Given the description of an element on the screen output the (x, y) to click on. 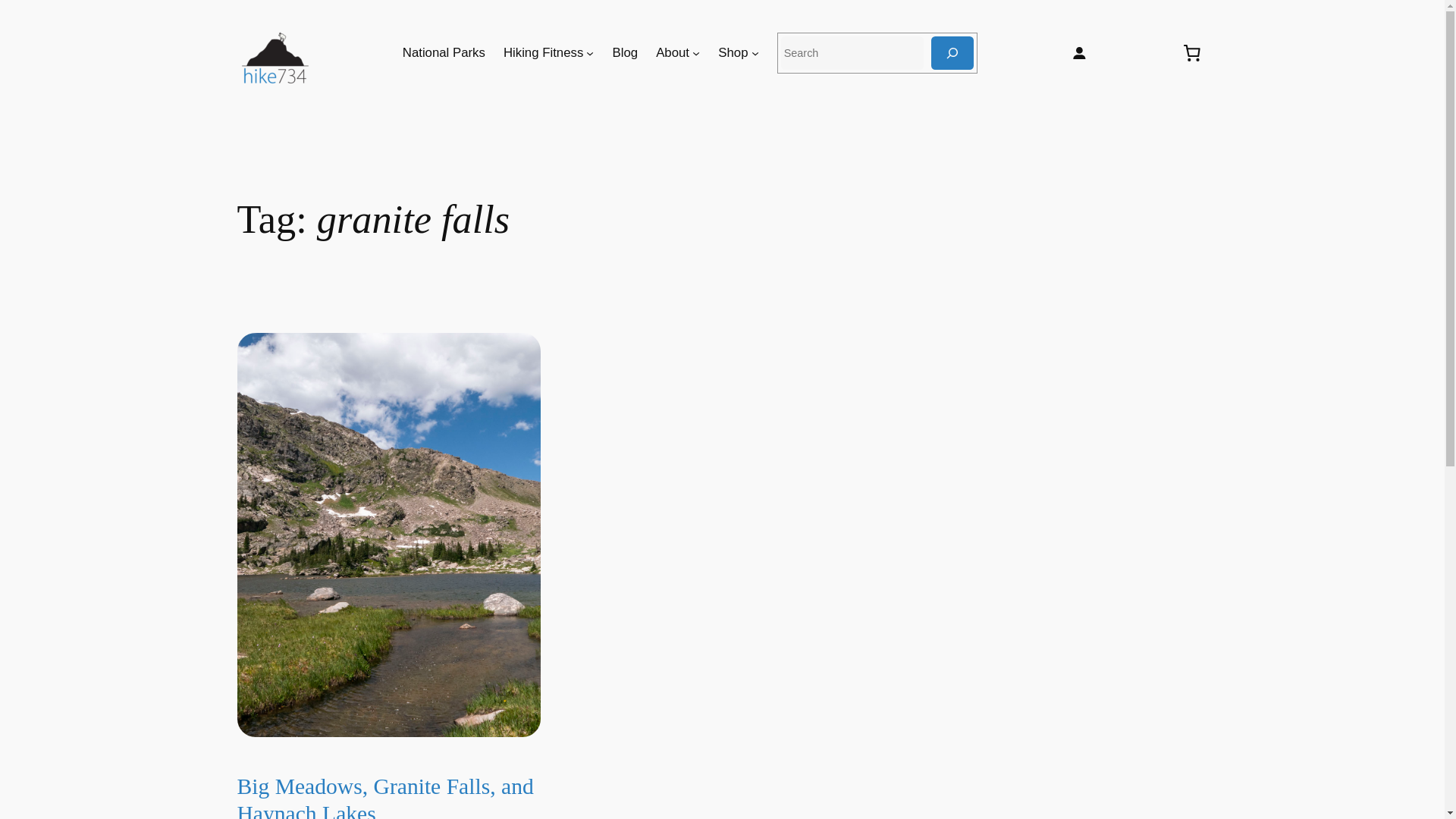
Big Meadows, Granite Falls, and Haynach Lakes (387, 796)
About (672, 53)
Blog (625, 53)
Hiking Fitness Posts (543, 53)
Shop (732, 53)
Hiking Fitness (543, 53)
National Parks (443, 53)
